Given the description of an element on the screen output the (x, y) to click on. 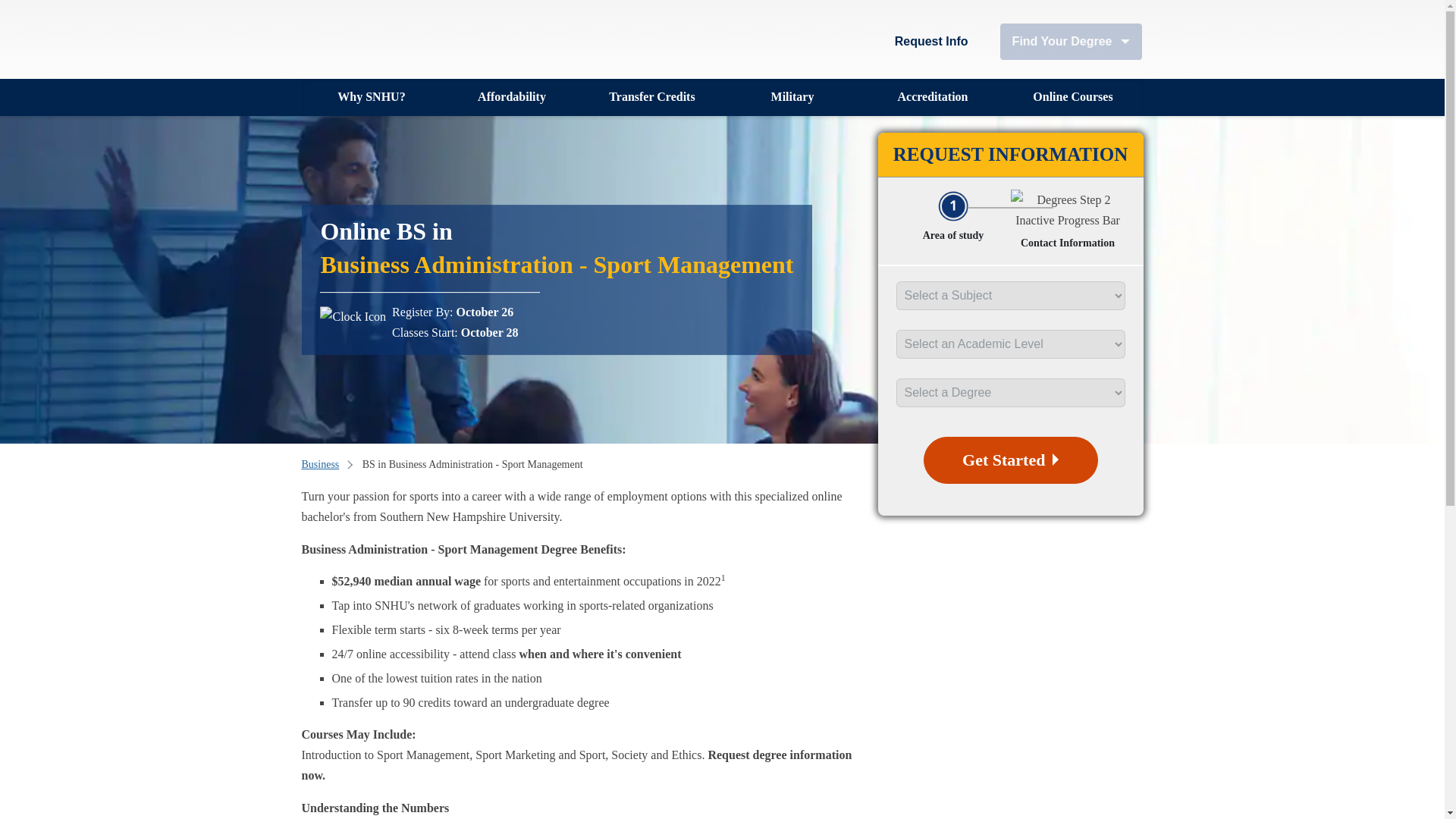
Request Info (931, 41)
Online Courses (1072, 97)
Why SNHU? (371, 97)
Skip to main content (303, 5)
Find Your Degree (1070, 41)
Accreditation (933, 97)
Affordability (510, 97)
Get Started (1010, 460)
Military (791, 97)
Southern New Hampshire University (384, 39)
